Given the description of an element on the screen output the (x, y) to click on. 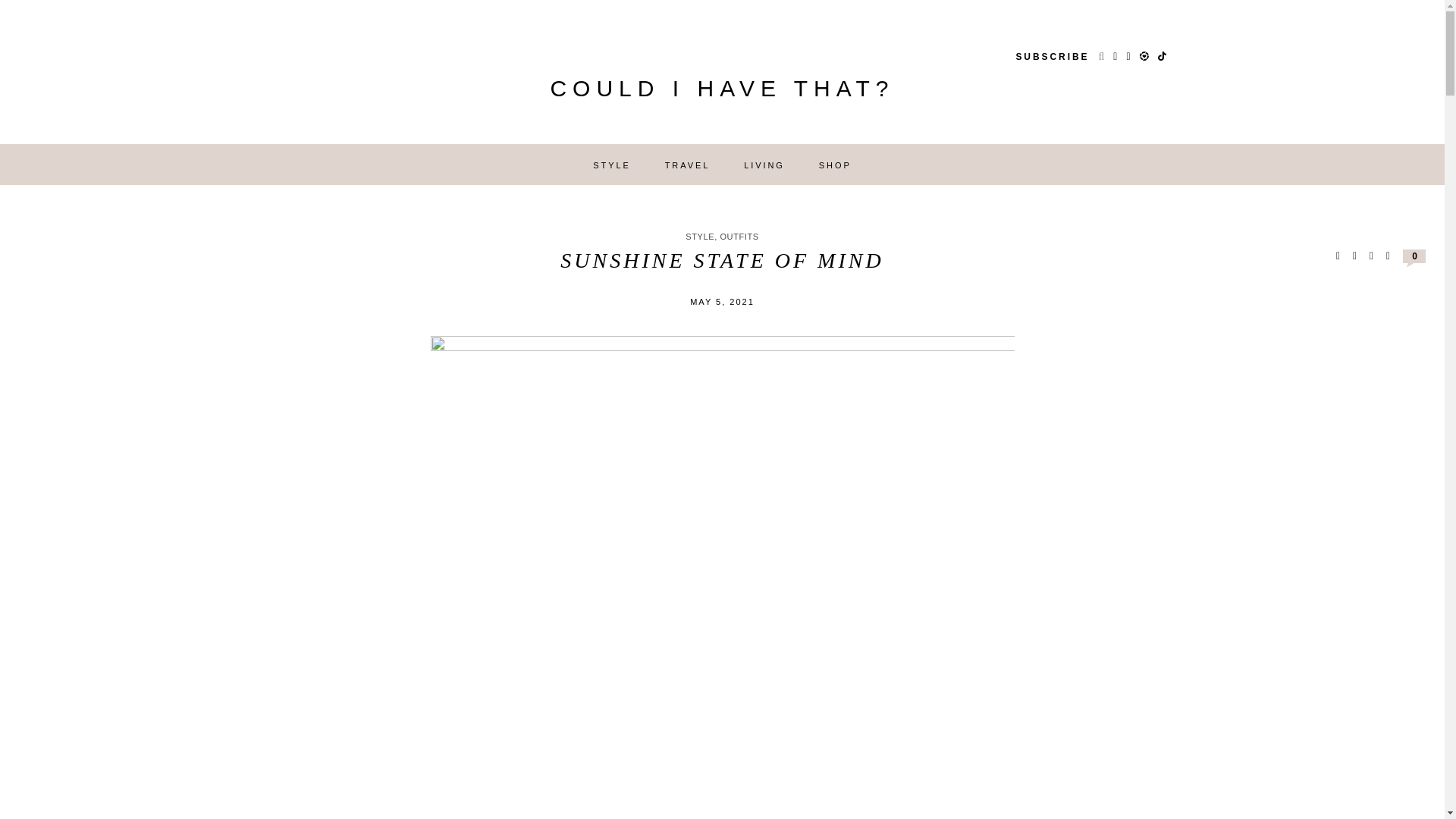
View all posts in outfits (738, 235)
View all posts in Style (699, 235)
SUBSCRIBE (1051, 56)
STYLE (611, 165)
COULD I HAVE THAT? (721, 92)
